Given the description of an element on the screen output the (x, y) to click on. 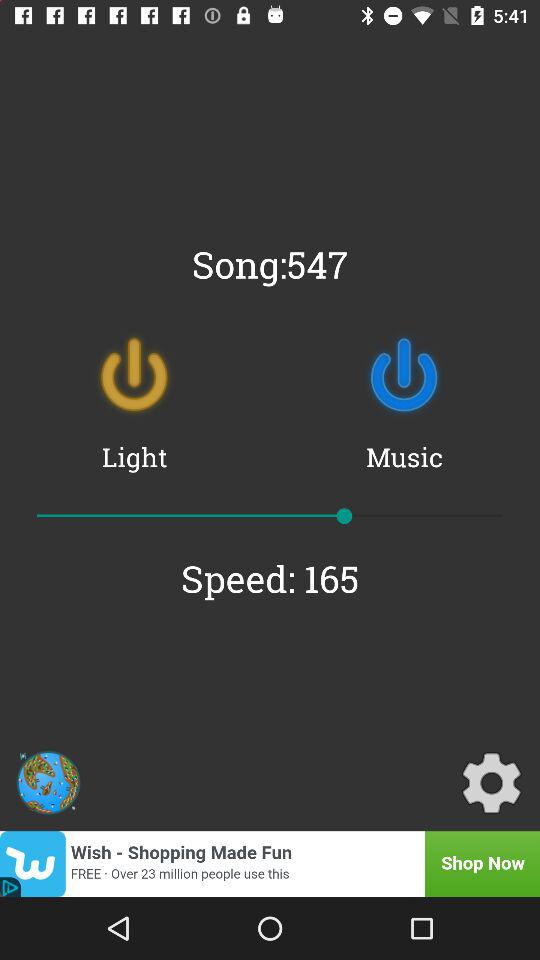
jump to the song:547 item (270, 264)
